Given the description of an element on the screen output the (x, y) to click on. 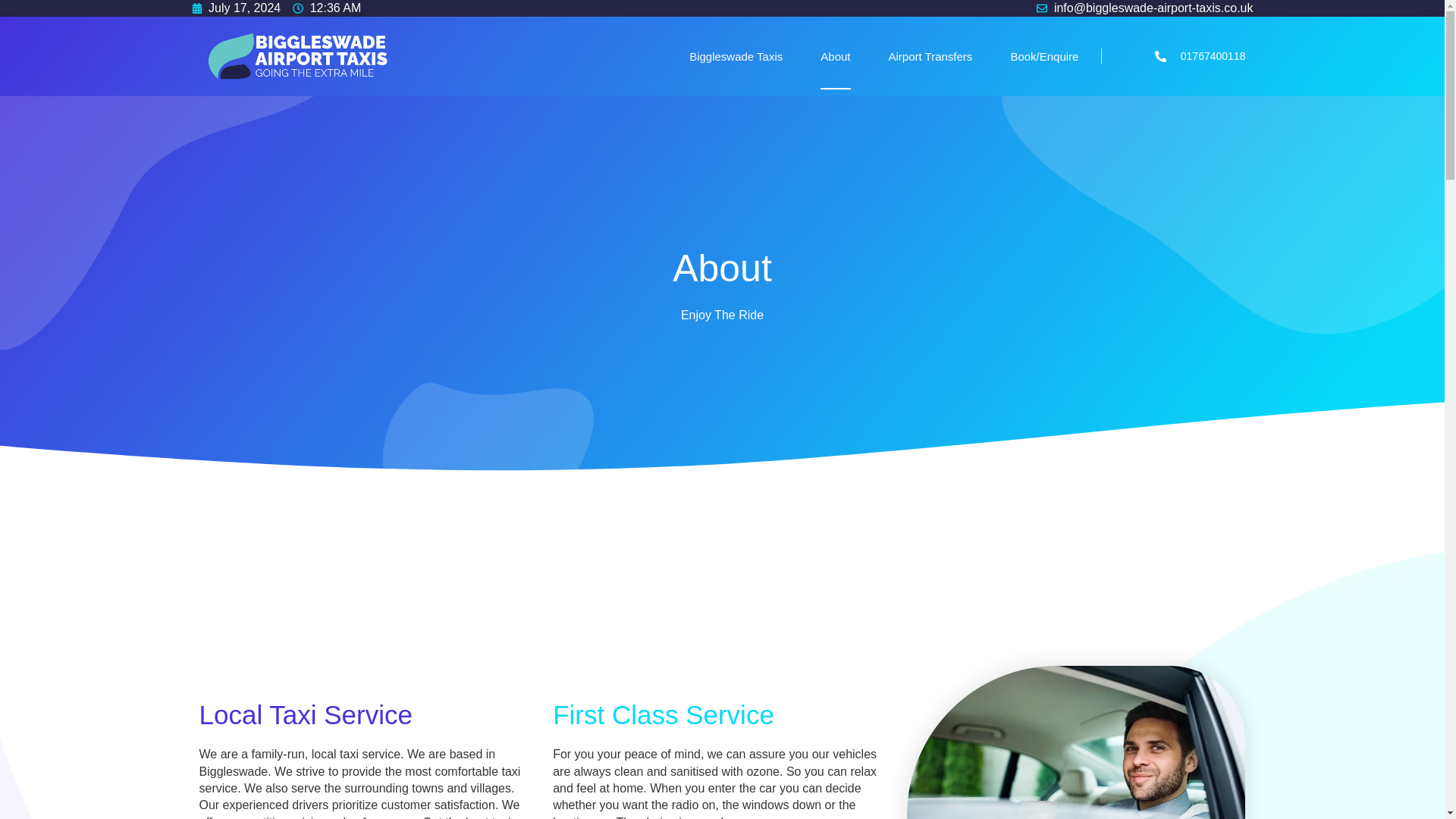
Airport Transfers (930, 56)
01767400118 (1173, 56)
About (1076, 742)
Biggleswade Taxis (735, 56)
